Given the description of an element on the screen output the (x, y) to click on. 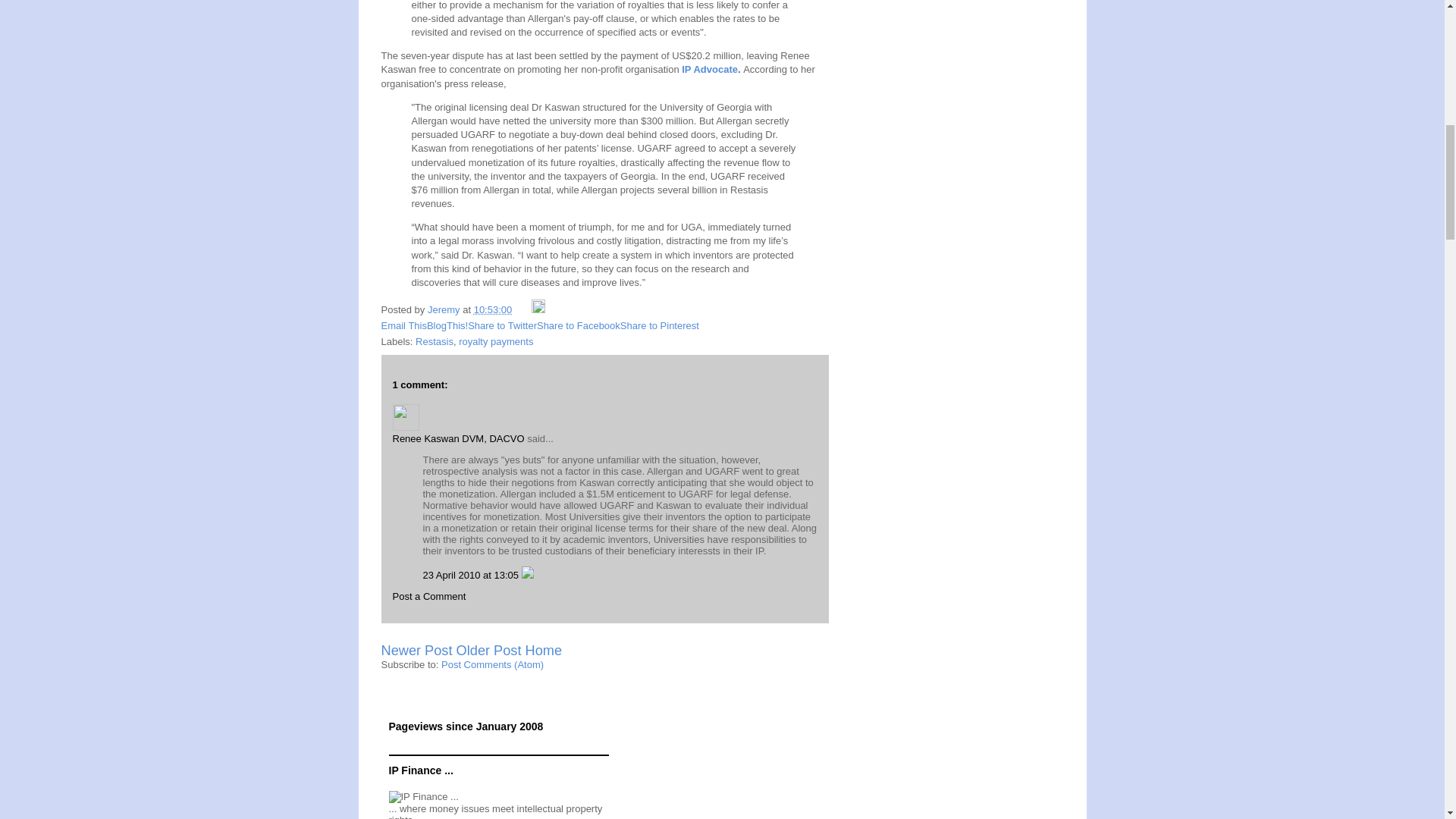
comment permalink (472, 574)
Edit Post (537, 309)
Share to Twitter (502, 325)
23 April 2010 at 13:05 (472, 574)
Older Post (489, 650)
Jeremy (445, 309)
Delete Comment (527, 574)
Newer Post (415, 650)
Email Post (523, 309)
Share to Pinterest (659, 325)
author profile (445, 309)
Renee Kaswan DVM, DACVO (406, 417)
Renee Kaswan DVM, DACVO (458, 438)
Older Post (489, 650)
Restasis (433, 341)
